Given the description of an element on the screen output the (x, y) to click on. 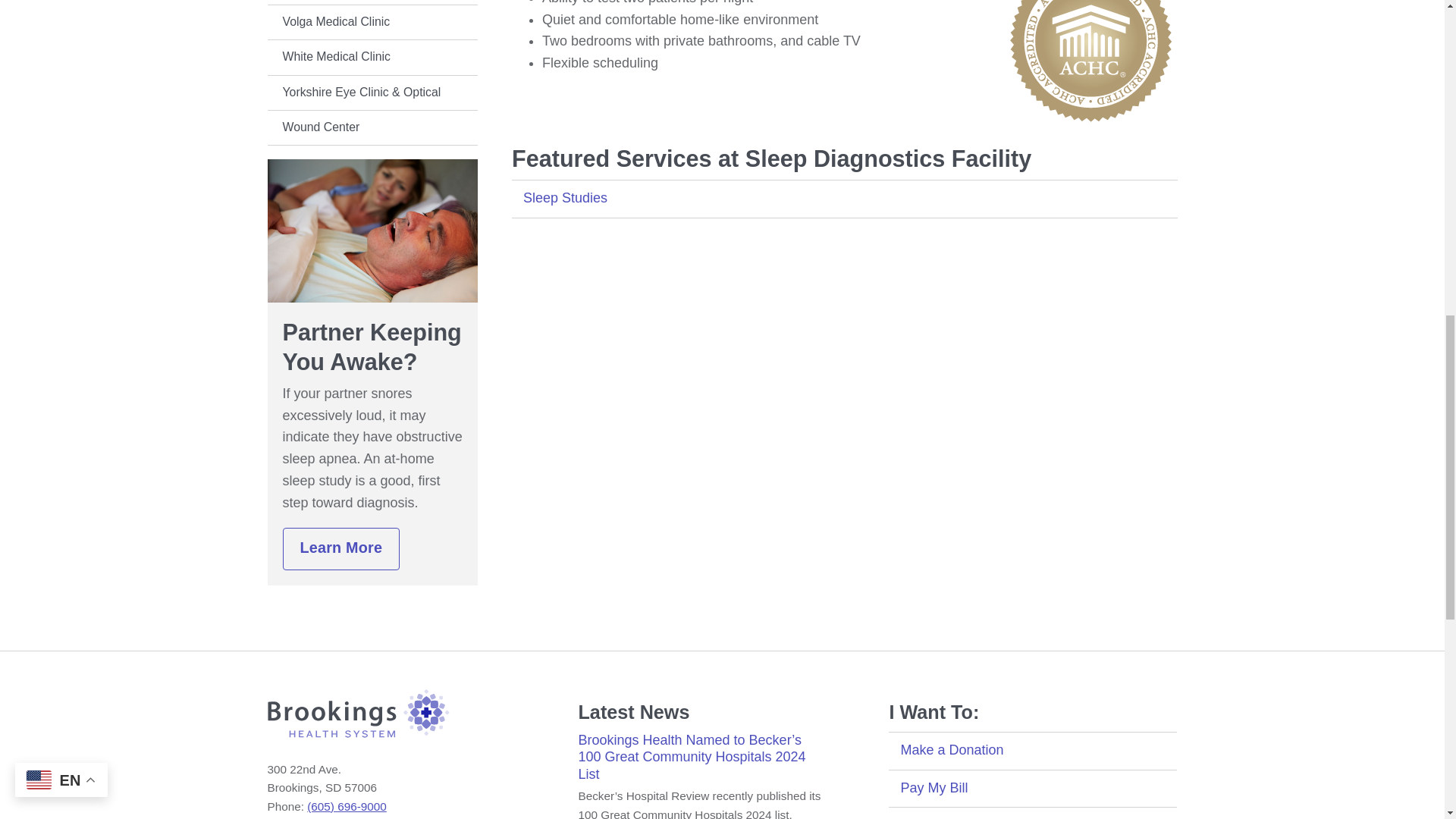
Pay your bill online (1032, 788)
Explore work opportunities with us (1032, 813)
Learn how to support our Foundation (1032, 750)
